Given the description of an element on the screen output the (x, y) to click on. 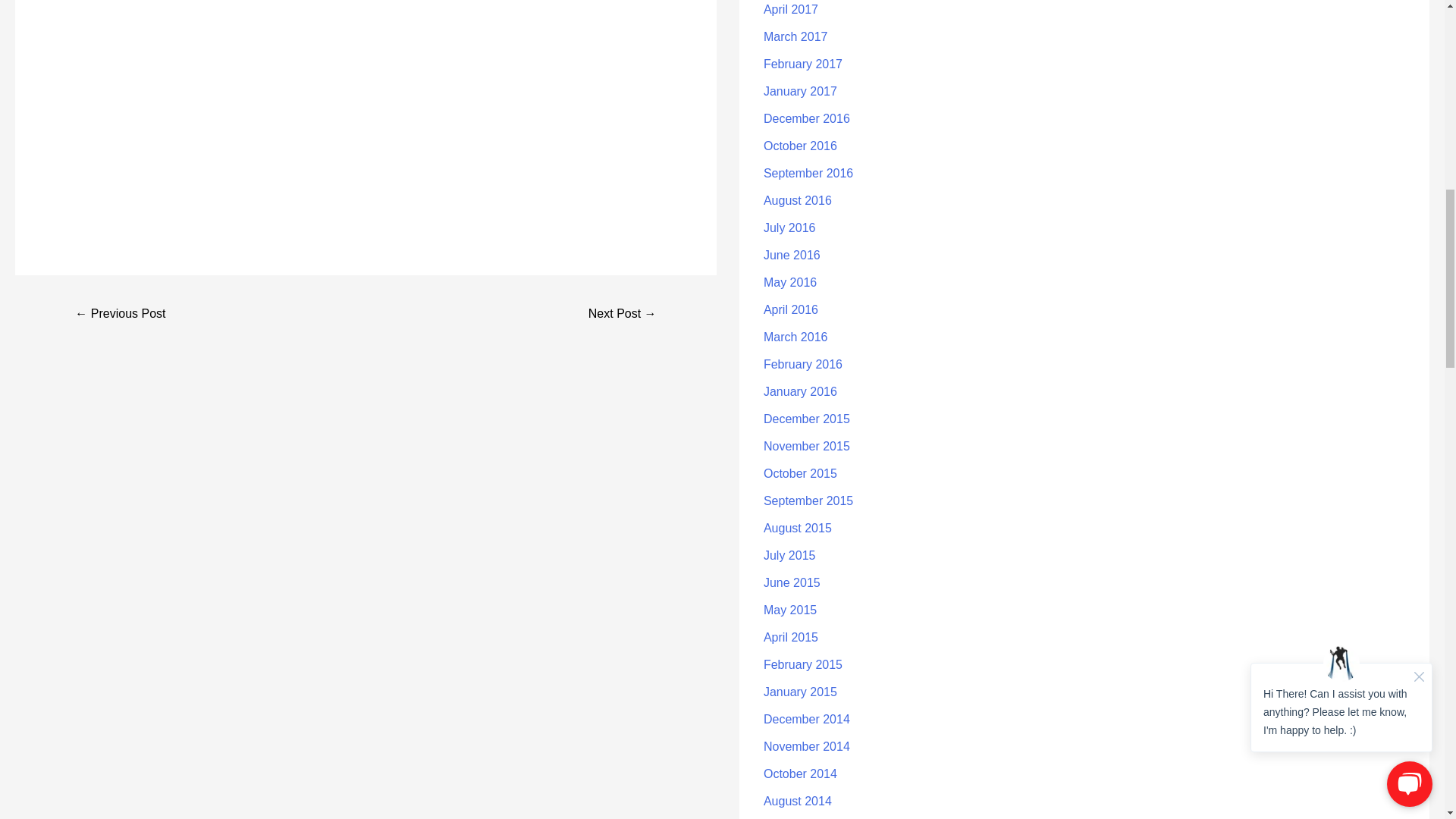
Santa Arrives by Jetpack at Seaport Village Christmas Event (622, 315)
Newport Beach - The Perfect Guy's Weekend Destination (119, 315)
